Given the description of an element on the screen output the (x, y) to click on. 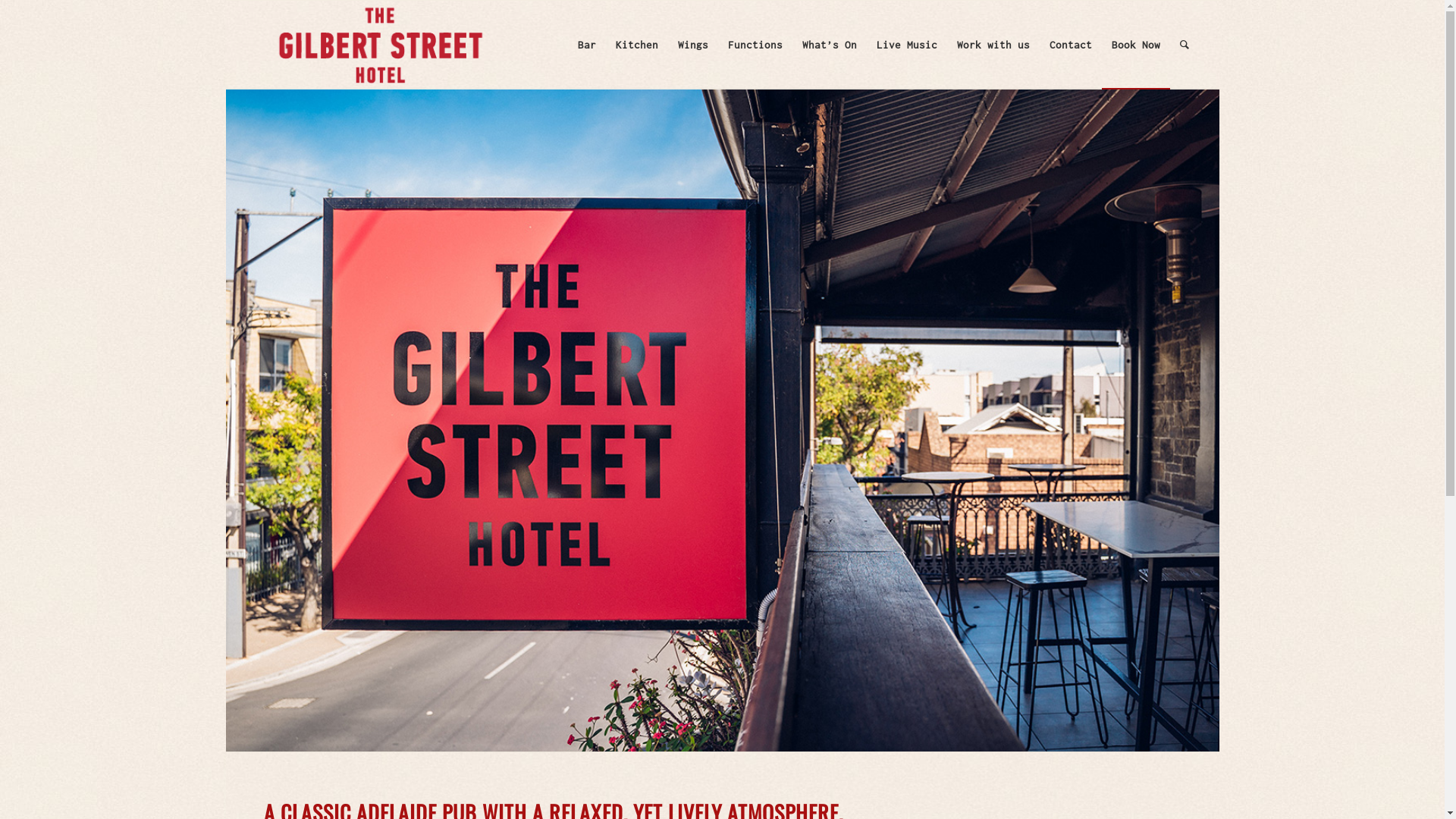
Functions Element type: text (755, 44)
Contact Element type: text (1070, 44)
GSH_Logo Element type: hover (379, 44)
Work with us Element type: text (993, 44)
Wings Element type: text (693, 44)
Live Music Element type: text (906, 44)
Kitchen Element type: text (636, 44)
Book Now Element type: text (1135, 44)
Bar Element type: text (586, 44)
gilbert-street-hotel-sign Element type: hover (722, 419)
